Given the description of an element on the screen output the (x, y) to click on. 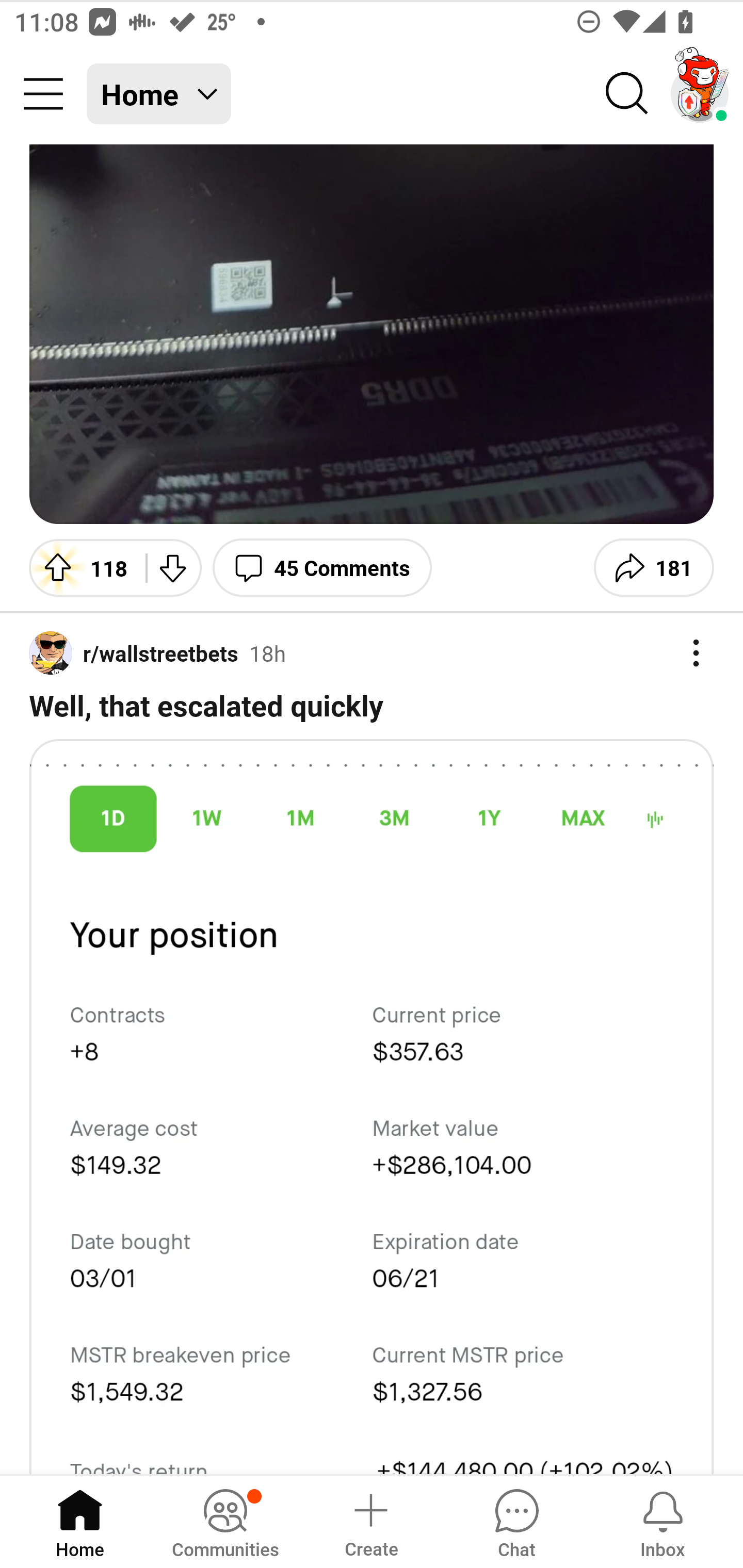
Community menu (43, 93)
Home Home feed (158, 93)
Search (626, 93)
TestAppium002 account (699, 93)
Home (80, 1520)
Communities, has notifications Communities (225, 1520)
Create a post Create (370, 1520)
Chat (516, 1520)
Inbox (662, 1520)
